Given the description of an element on the screen output the (x, y) to click on. 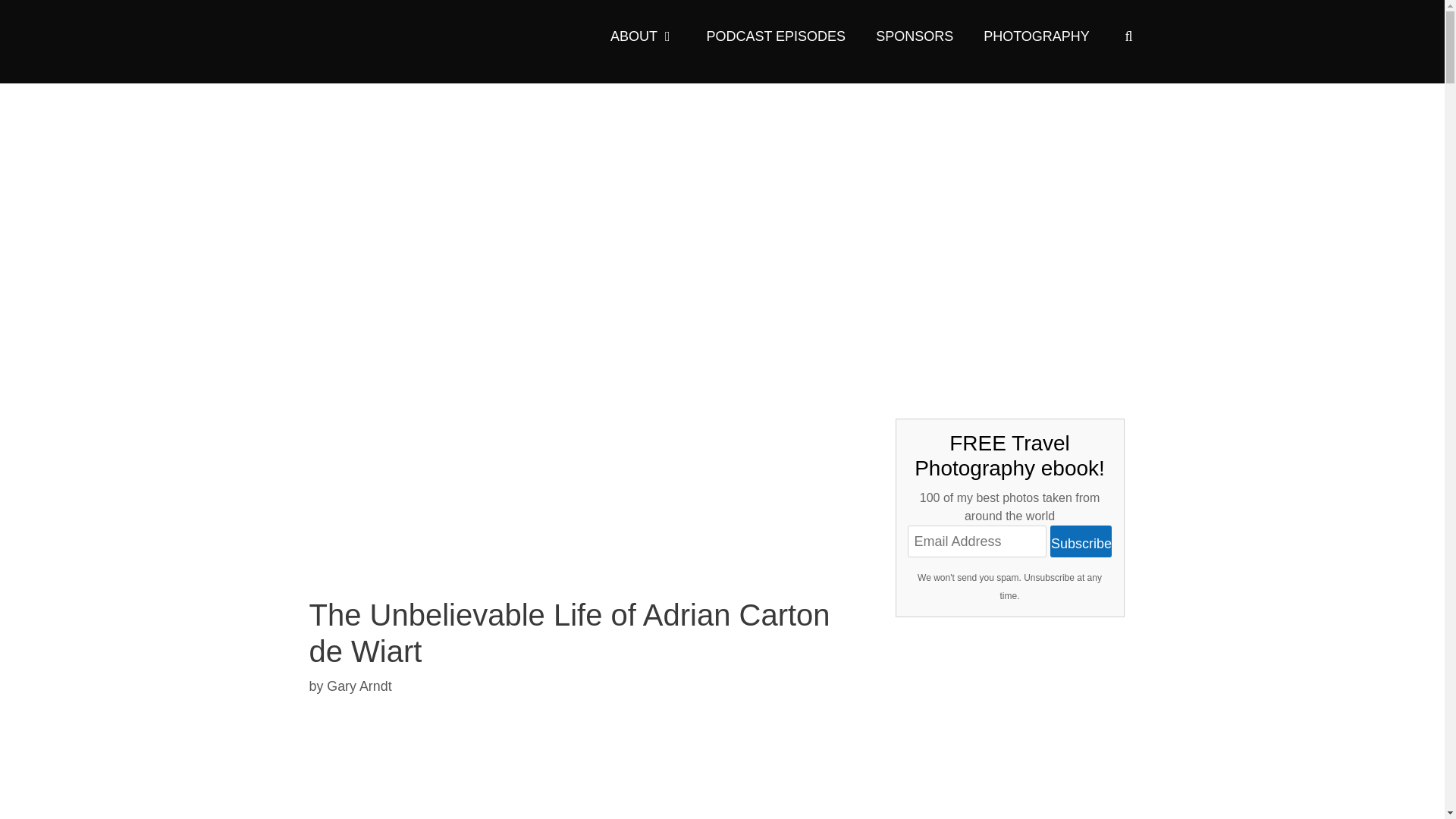
View all posts by Gary Arndt (358, 685)
PHOTOGRAPHY (1036, 36)
PODCAST EPISODES (775, 36)
SPONSORS (914, 36)
Subscribe (1080, 541)
Search (41, 20)
ABOUT (642, 36)
Gary Arndt (358, 685)
